Given the description of an element on the screen output the (x, y) to click on. 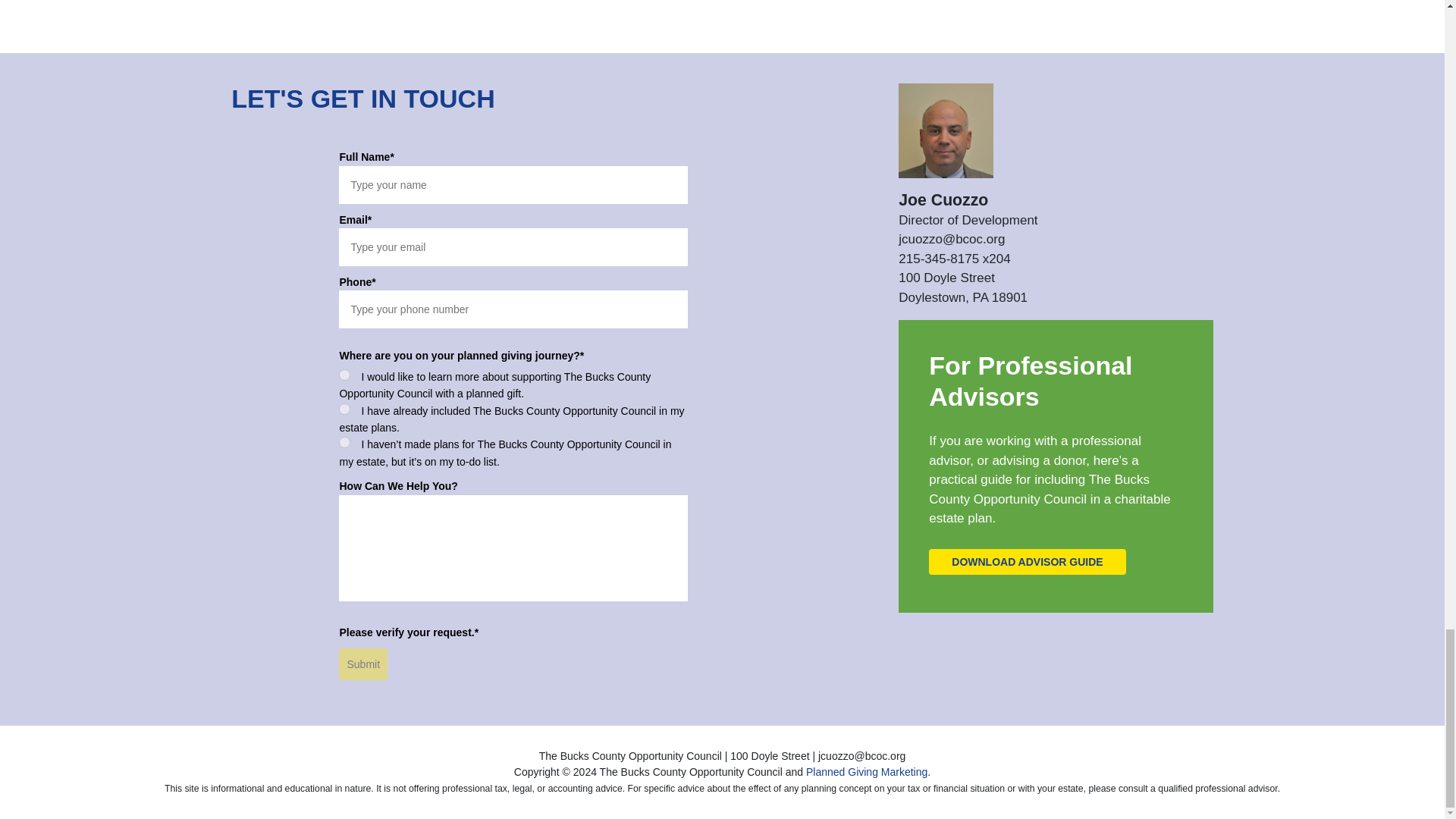
Planned Giving Marketing (866, 771)
DOWNLOAD ADVISOR GUIDE (1026, 561)
Submit (363, 664)
